Given the description of an element on the screen output the (x, y) to click on. 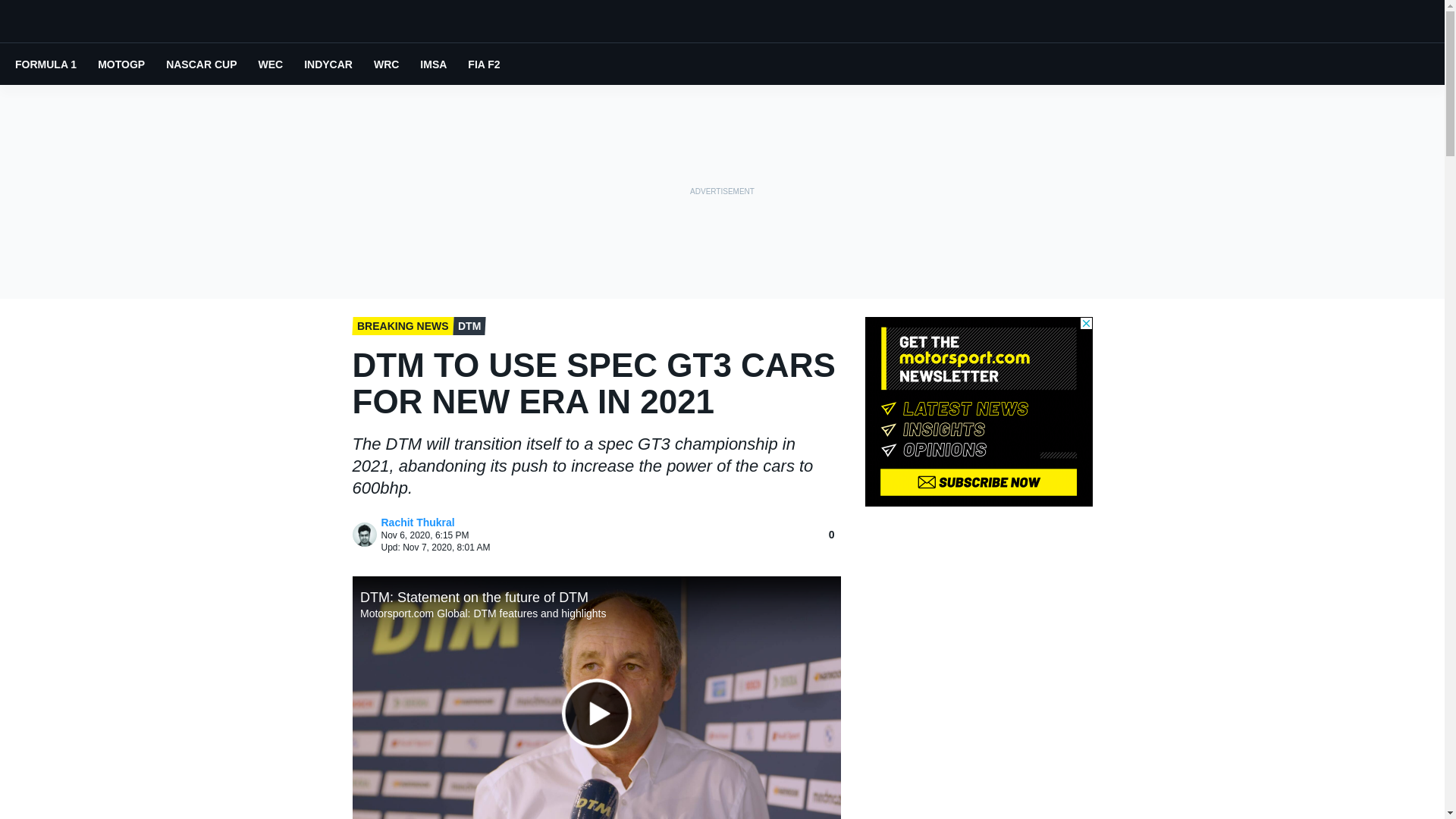
Rachit Thukral (363, 534)
3rd party ad content (978, 411)
INDYCAR (328, 64)
FORMULA 1 (45, 64)
MOTOGP (120, 64)
NASCAR CUP (200, 64)
